Given the description of an element on the screen output the (x, y) to click on. 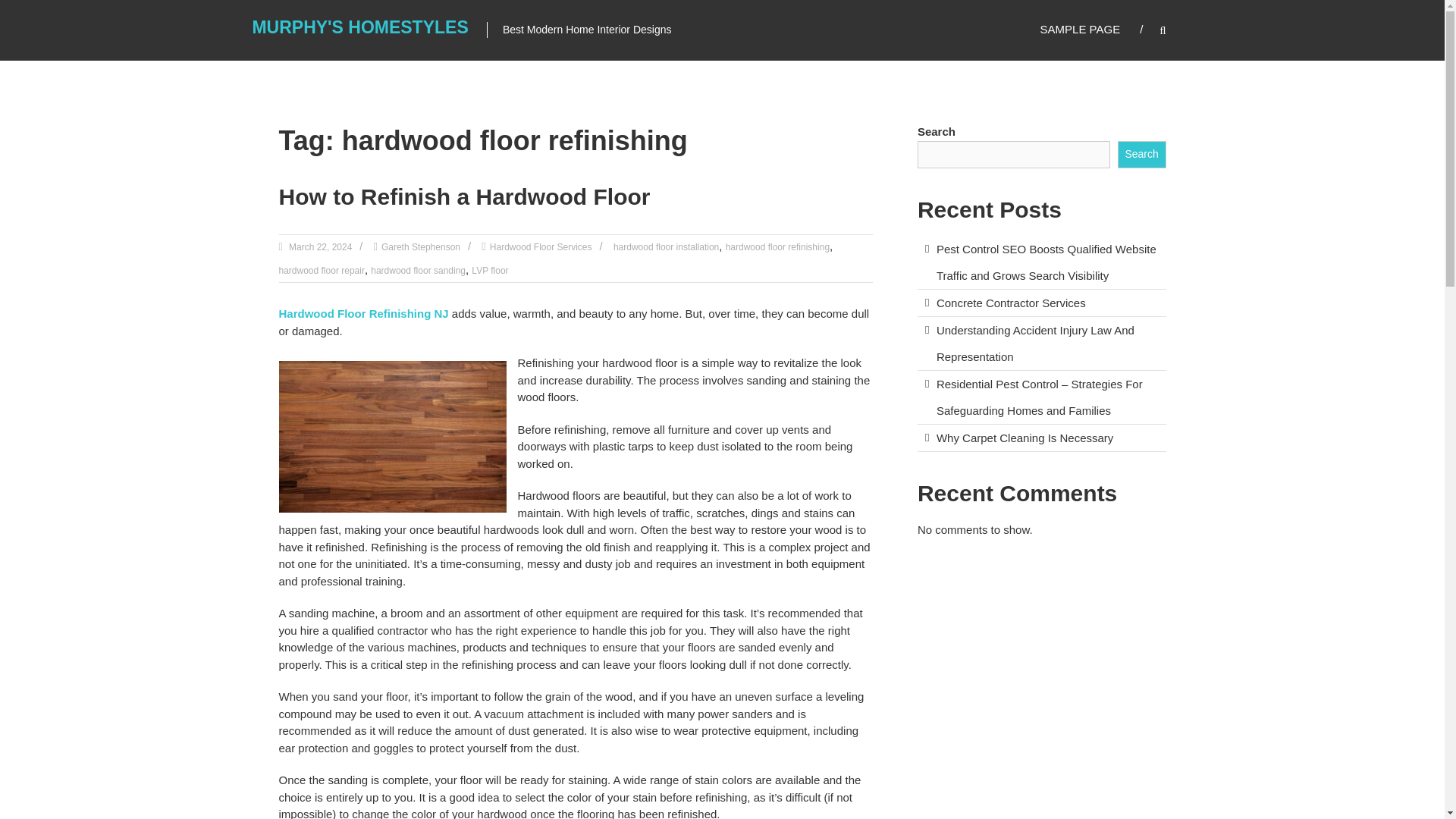
Murphy's Homestyles (359, 26)
LVP floor (489, 270)
Search (1142, 154)
Why Carpet Cleaning Is Necessary (1024, 437)
MURPHY'S HOMESTYLES (359, 26)
hardwood floor refinishing (777, 246)
8:40 pm (319, 246)
hardwood floor repair (322, 270)
Gareth Stephenson (420, 246)
How to Refinish a Hardwood Floor (464, 196)
hardwood floor sanding (418, 270)
Hardwood Floor Services (540, 246)
hardwood floor installation (665, 246)
Concrete Contractor Services (1011, 302)
